Given the description of an element on the screen output the (x, y) to click on. 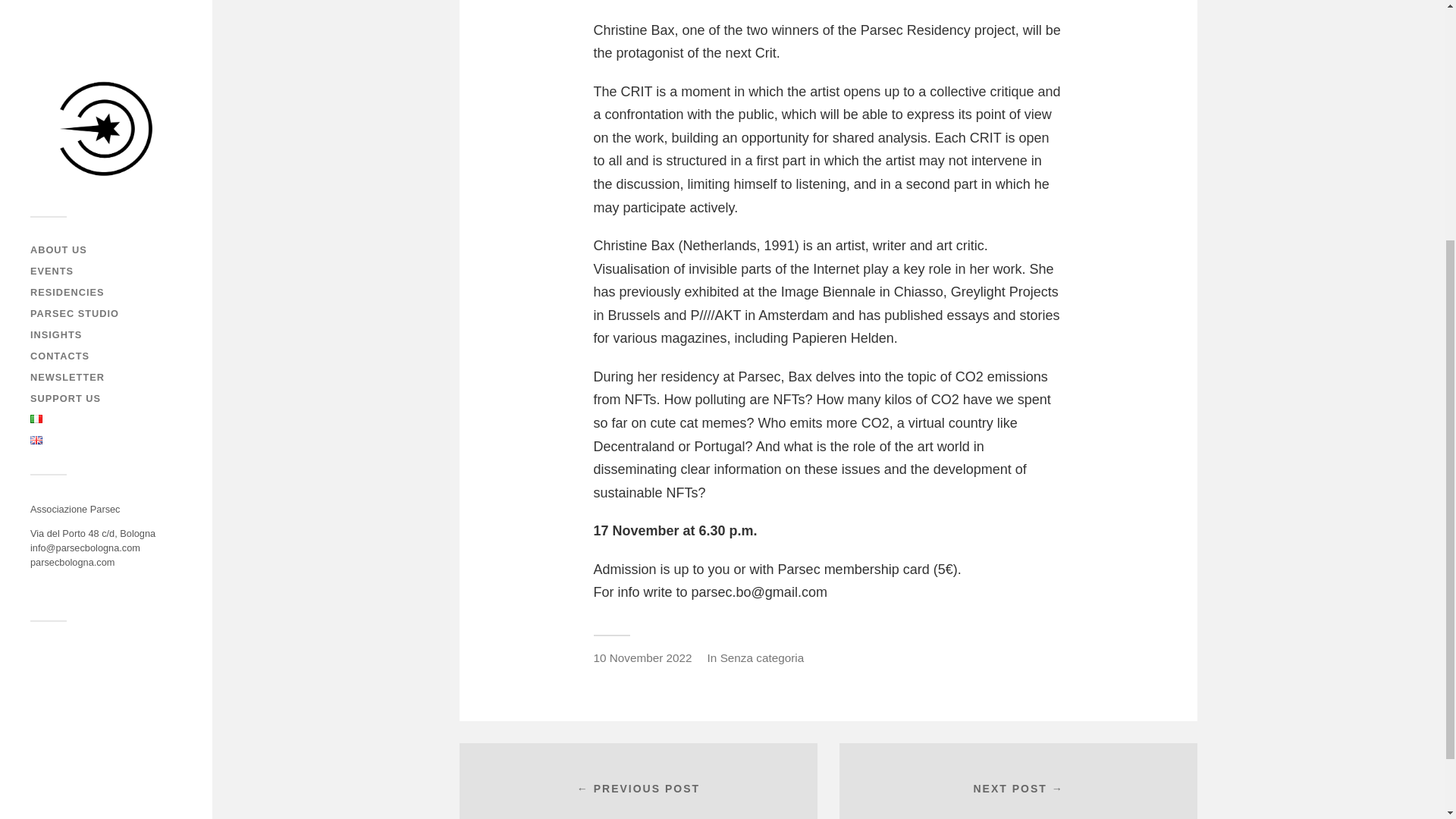
10 November 2022 (641, 657)
NEWSLETTER (67, 15)
SUPPORT US (65, 36)
Senza categoria (762, 657)
